Given the description of an element on the screen output the (x, y) to click on. 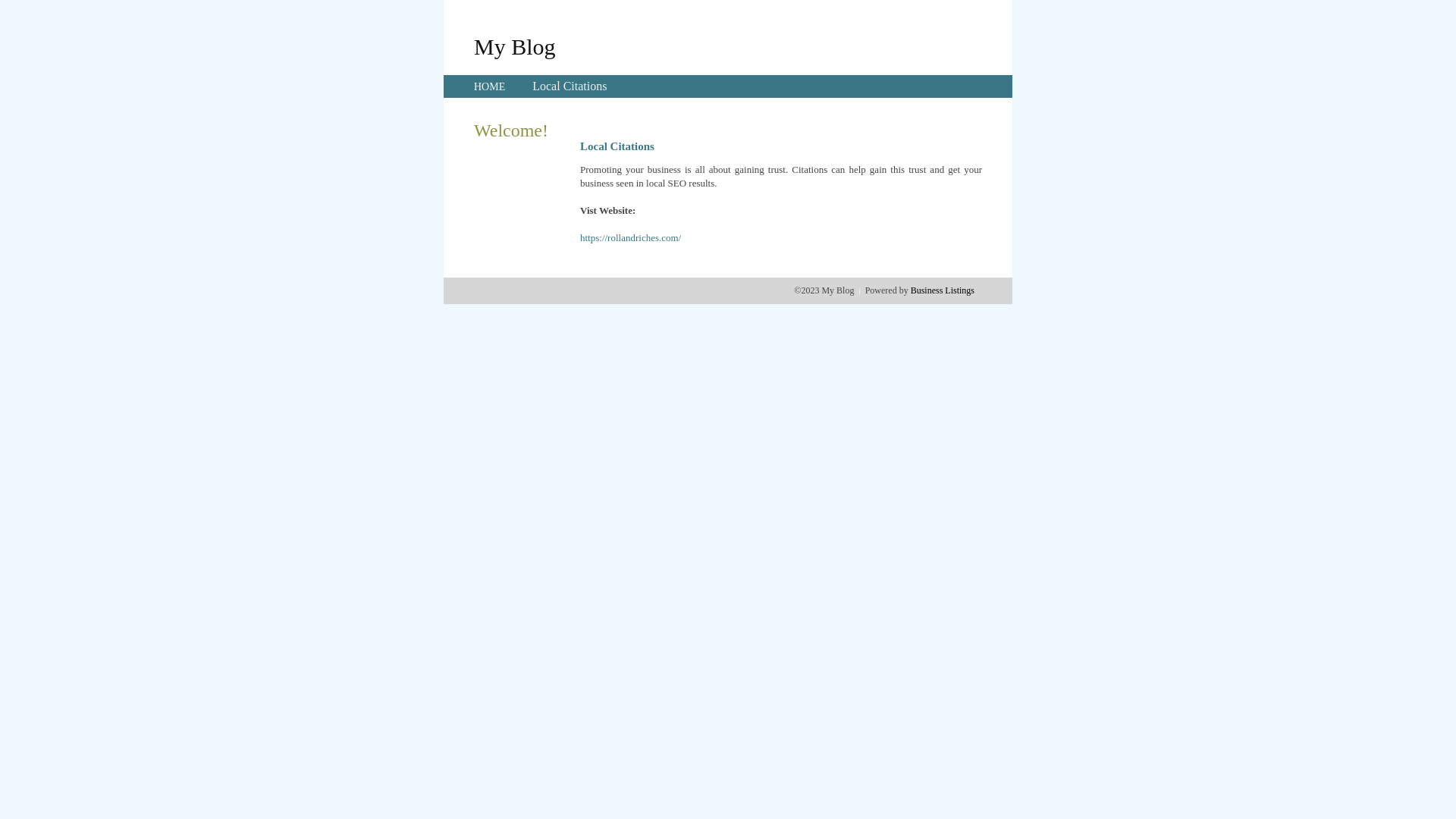
HOME Element type: text (489, 86)
My Blog Element type: text (514, 46)
Business Listings Element type: text (942, 290)
https://rollandriches.com/ Element type: text (630, 237)
Local Citations Element type: text (569, 85)
